Given the description of an element on the screen output the (x, y) to click on. 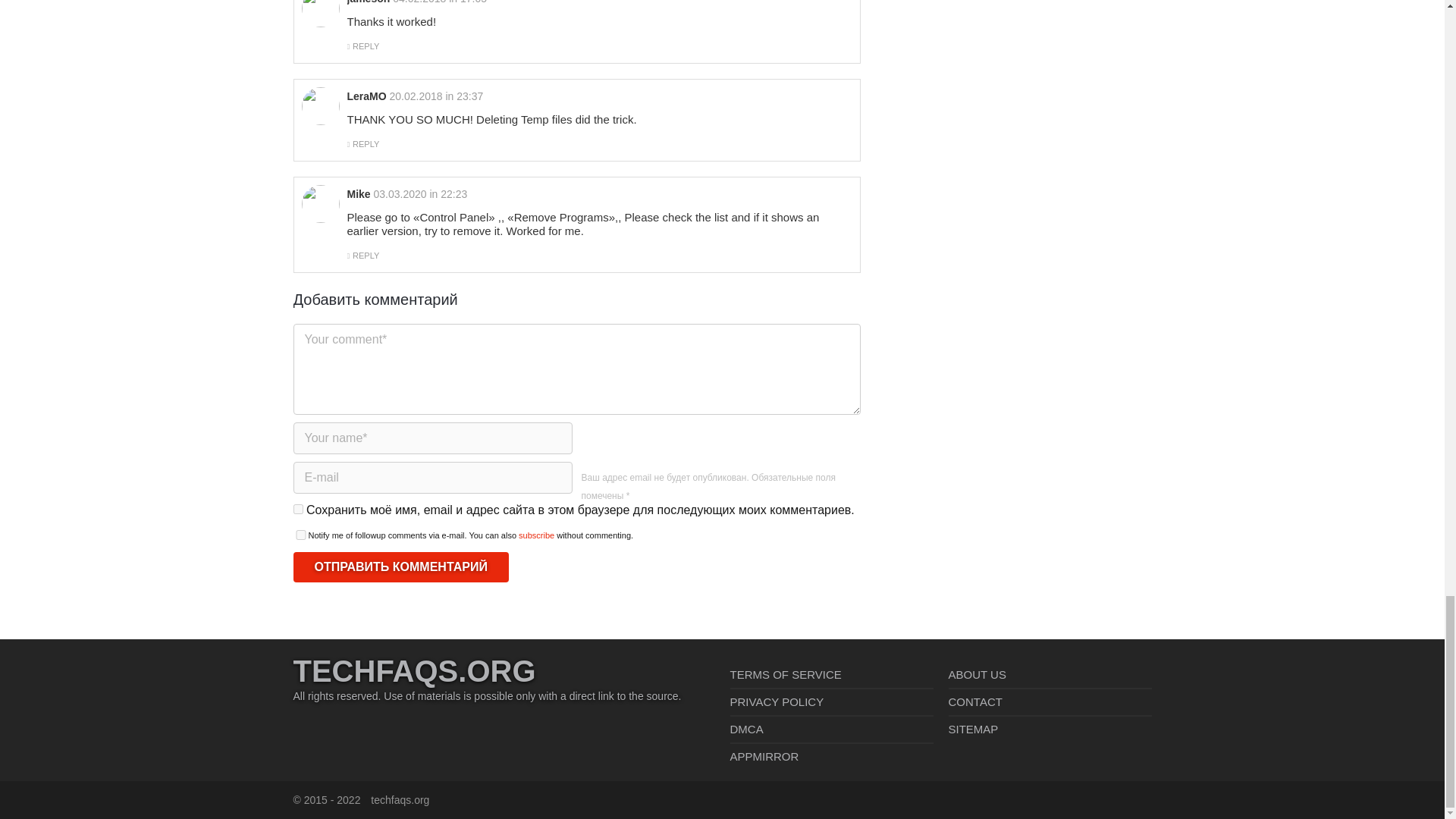
REPLY (365, 45)
yes (297, 509)
subscribe (536, 534)
yes (299, 534)
REPLY (365, 143)
REPLY (365, 255)
